Given the description of an element on the screen output the (x, y) to click on. 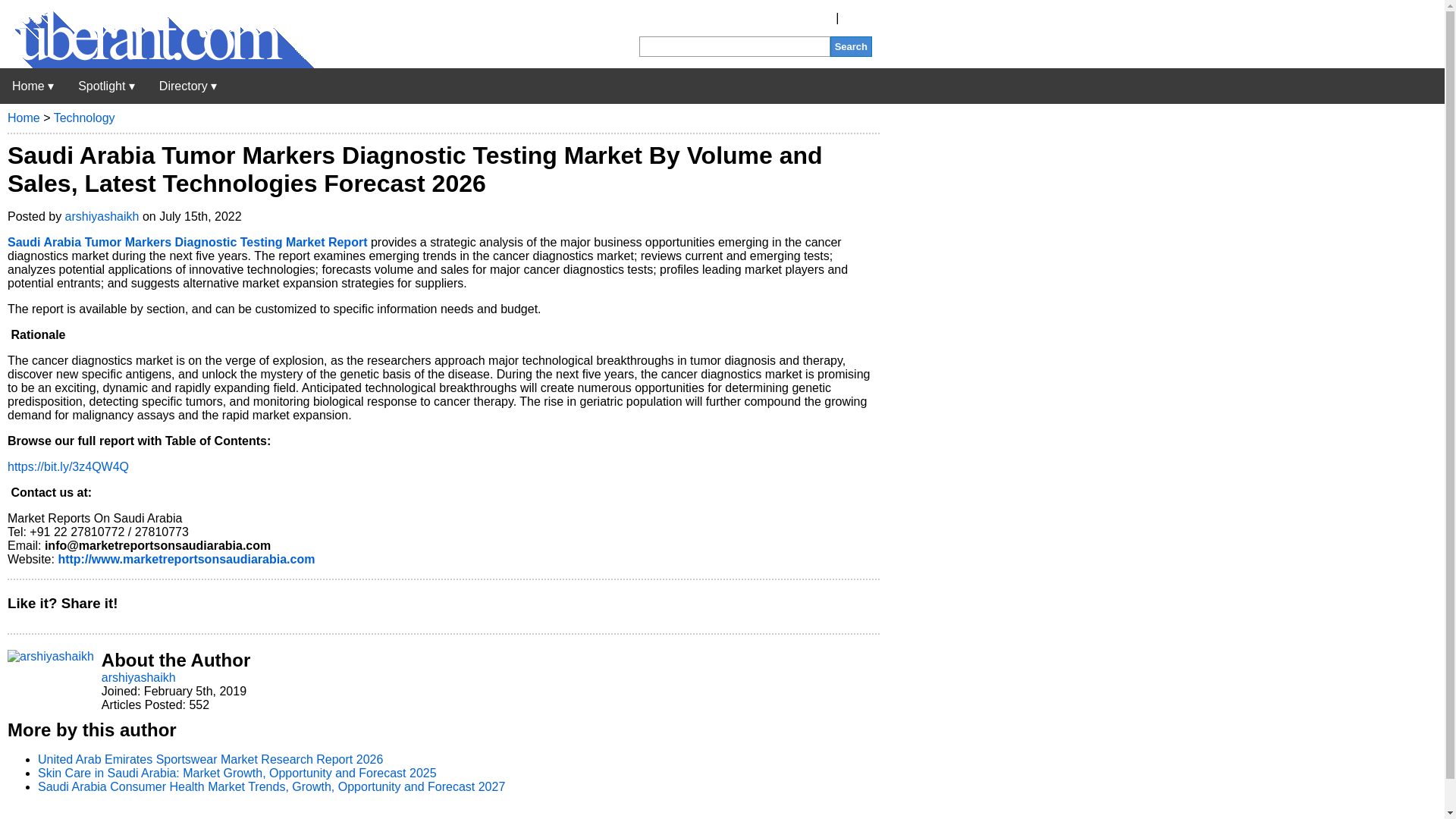
Uberant (32, 85)
Login (857, 17)
Search (850, 46)
Register (809, 17)
Uberant (157, 63)
Search (850, 46)
